Given the description of an element on the screen output the (x, y) to click on. 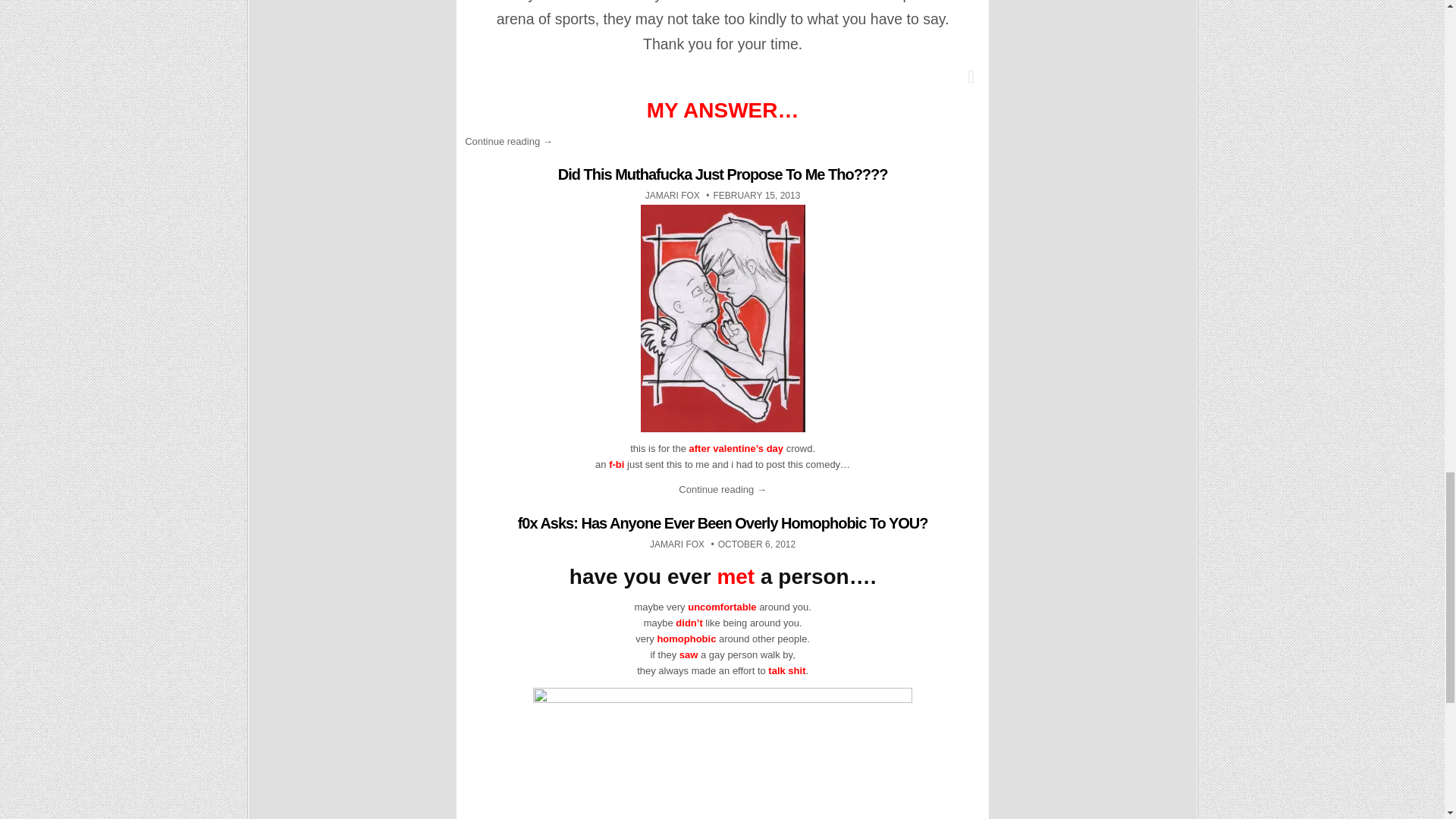
f0x Asks: Has Anyone Ever Been Overly Homophobic To YOU? (723, 523)
Did This Muthafucka Just Propose To Me Tho???? (672, 194)
